Given the description of an element on the screen output the (x, y) to click on. 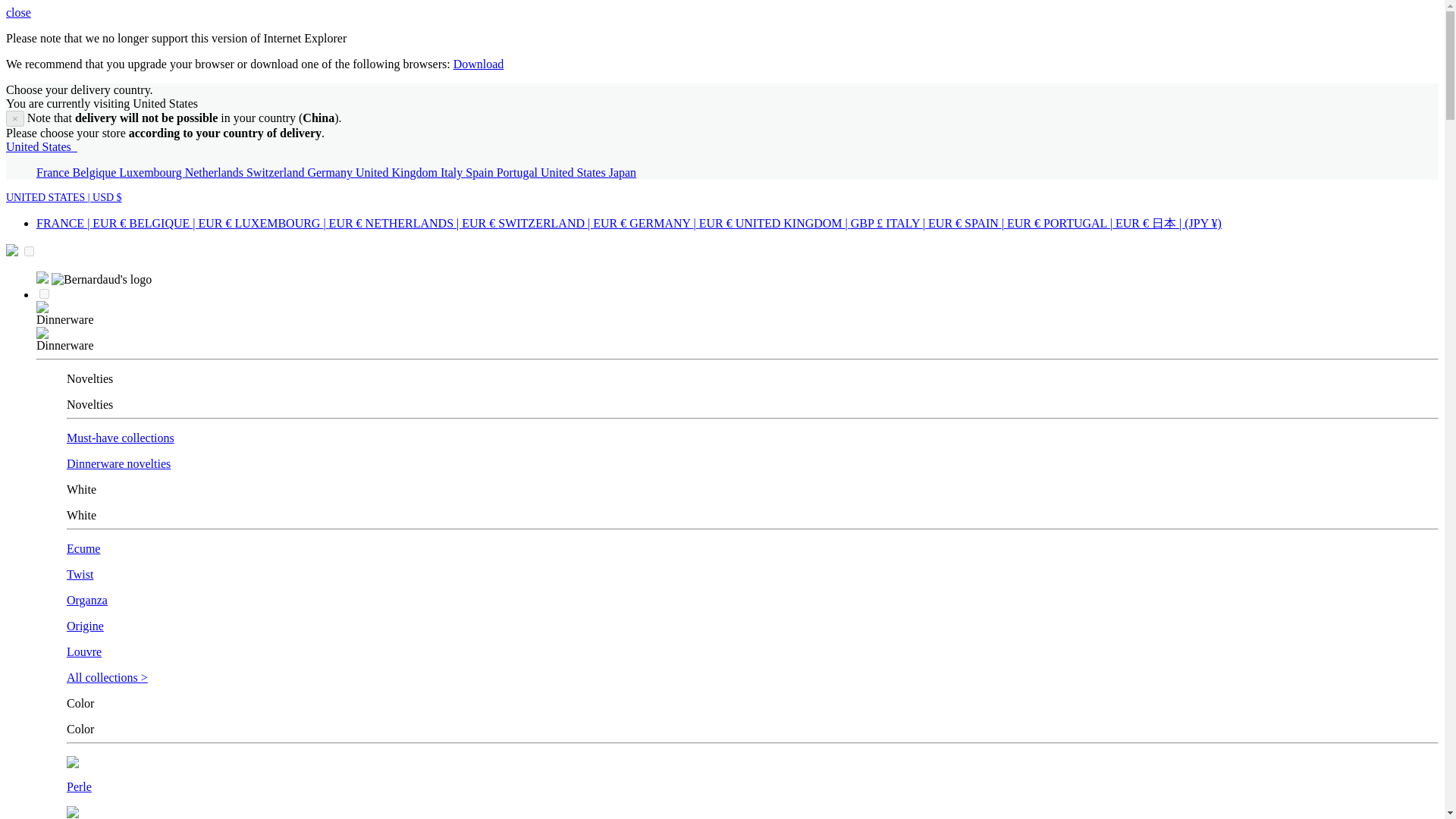
Spain (480, 172)
Belgique (95, 172)
Germany (331, 172)
on (44, 293)
Portugal (518, 172)
Japan (622, 172)
Netherlands (215, 172)
Italy (453, 172)
United States (574, 172)
Luxembourg (151, 172)
United States   (41, 146)
close (17, 11)
on (28, 251)
Switzerland (276, 172)
France (54, 172)
